Given the description of an element on the screen output the (x, y) to click on. 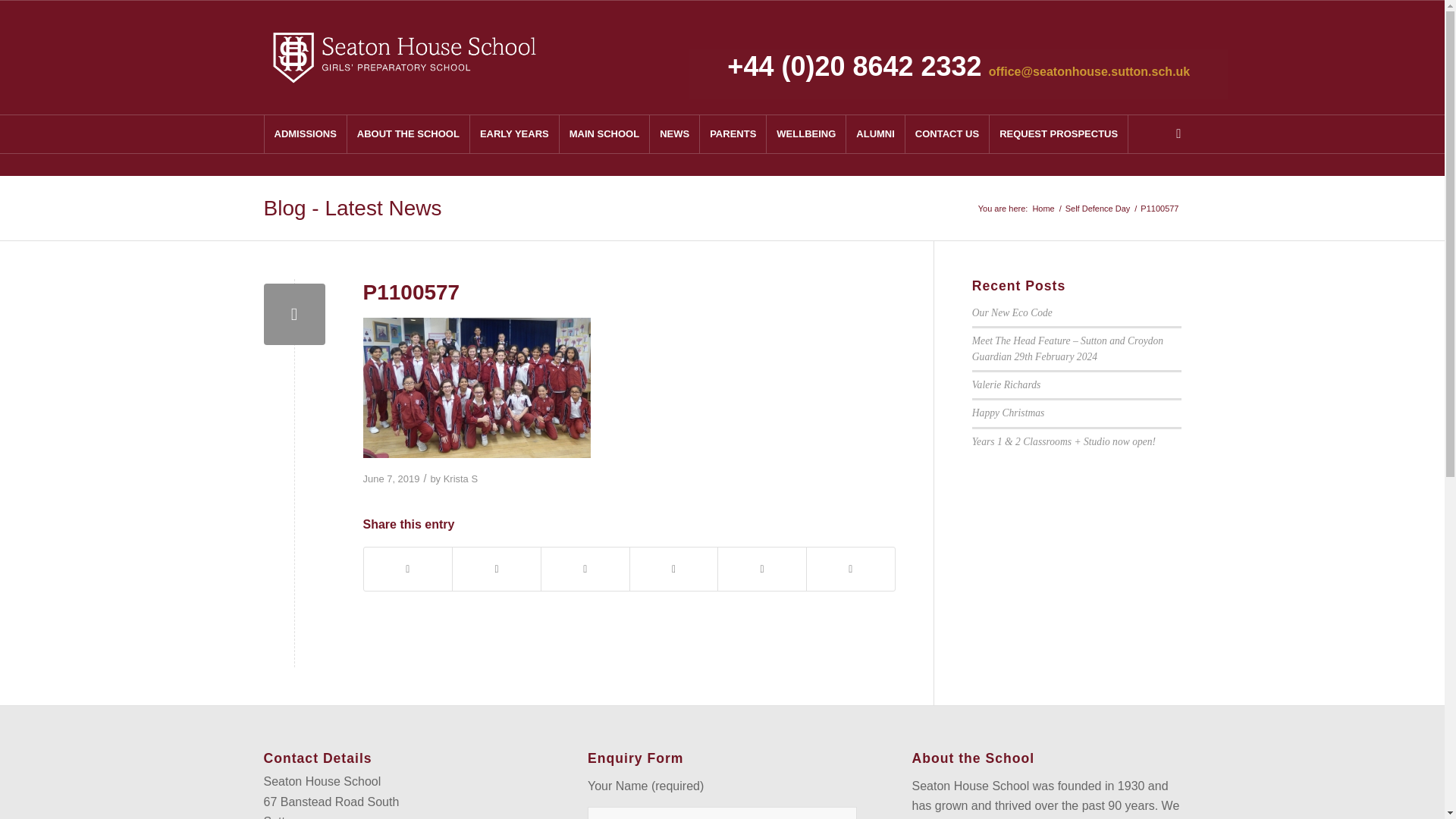
Seaton House School (1043, 208)
P1100577 (293, 313)
ADMISSIONS (304, 134)
EARLY YEARS (514, 134)
PARENTS (732, 134)
MAIN SCHOOL (604, 134)
Self Defence Day (1097, 208)
Posts by Krista S (460, 478)
Permanent Link: Blog - Latest News (352, 208)
NEWS (673, 134)
ABOUT THE SCHOOL (407, 134)
